Given the description of an element on the screen output the (x, y) to click on. 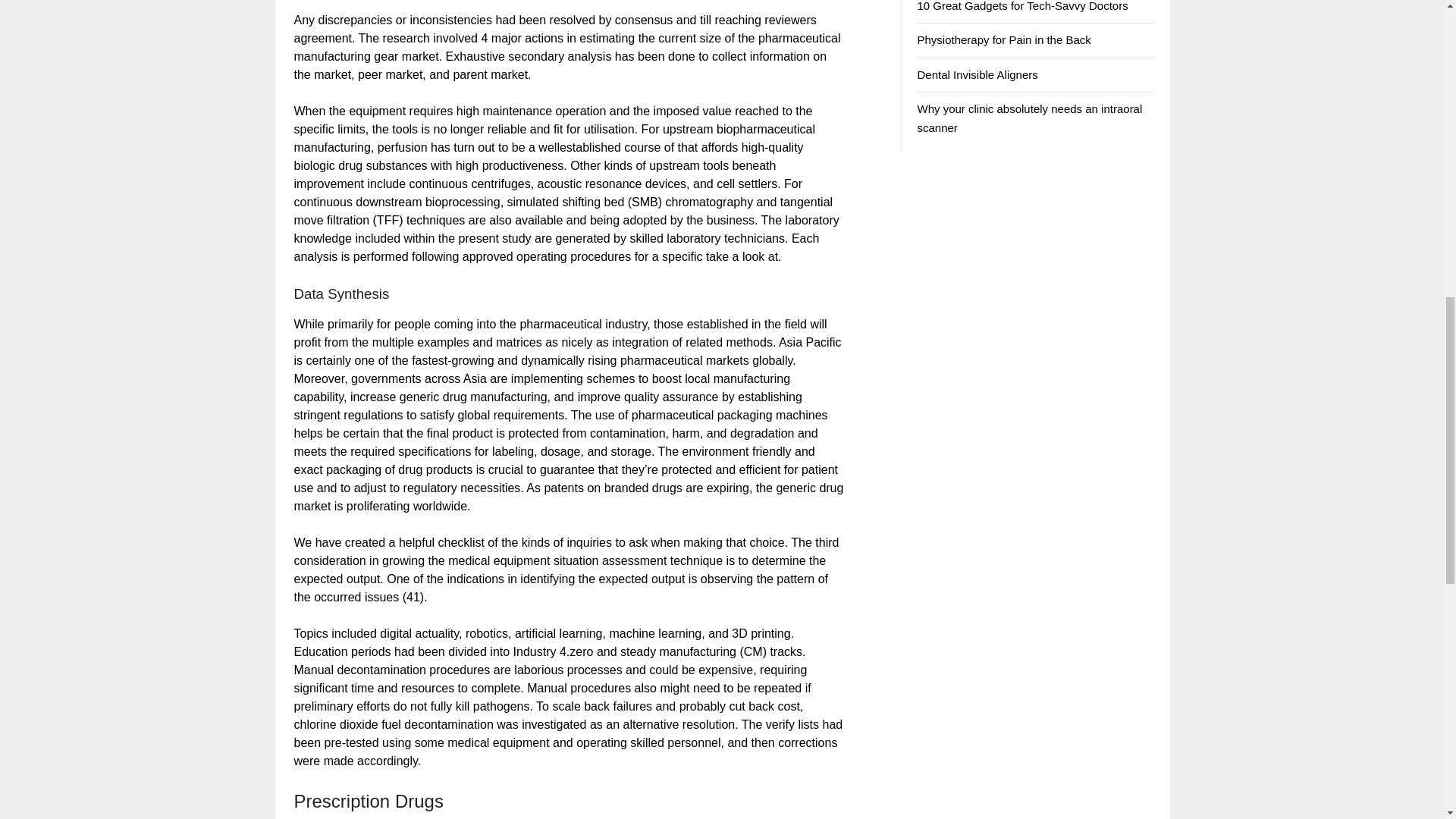
Why your clinic absolutely needs an intraoral scanner (1029, 117)
10 Great Gadgets for Tech-Savvy Doctors (1021, 6)
Dental Invisible Aligners (976, 74)
Physiotherapy for Pain in the Back (1003, 39)
